Given the description of an element on the screen output the (x, y) to click on. 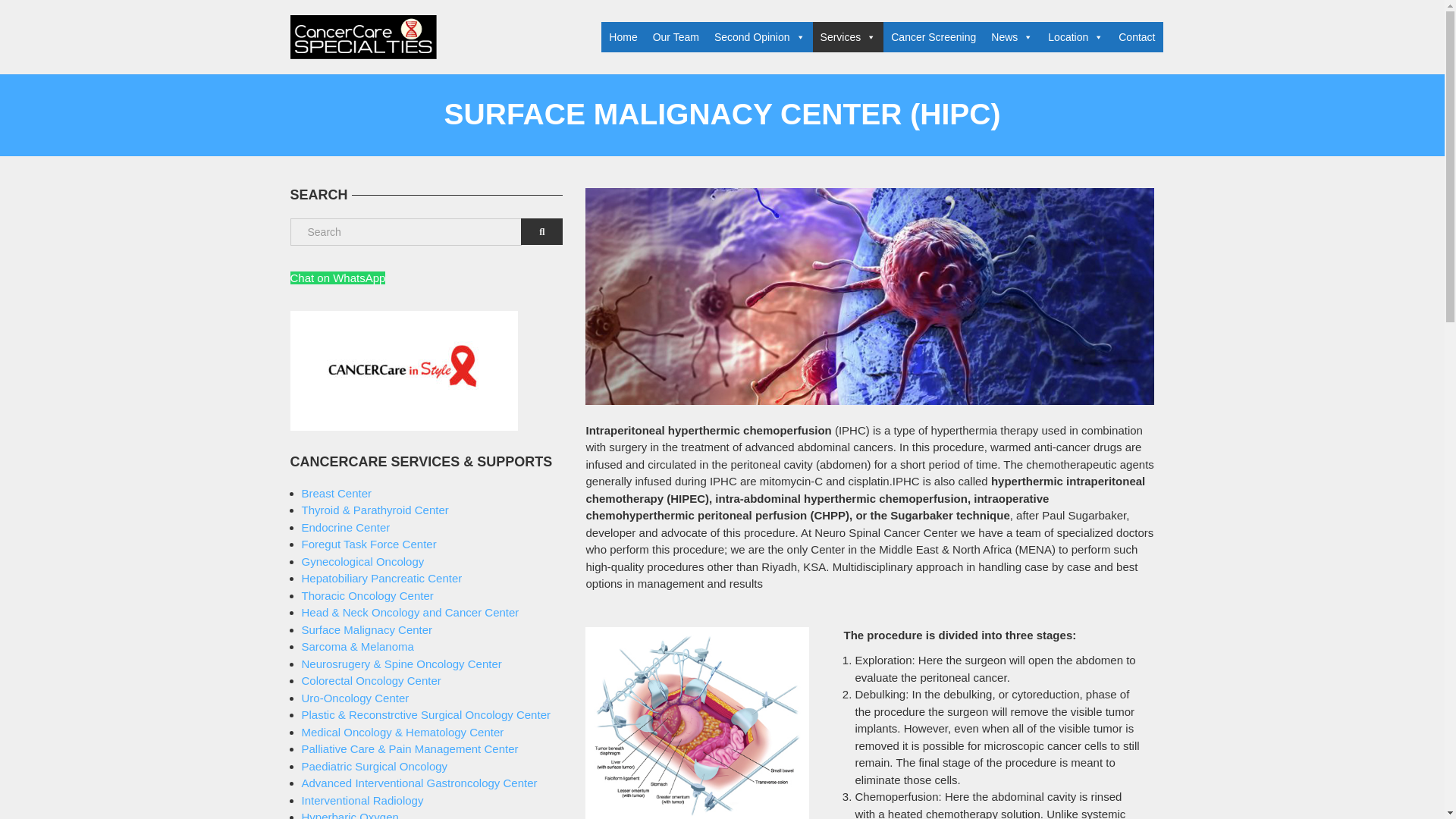
Gynecological Oncology Center UAE (363, 561)
Hepatobiliary Pancreatic Center UAE (382, 577)
Breast Cancer UAE (336, 492)
aediatric Surgical Oncology UAE (374, 766)
Uro-Oncology Center UAE (355, 697)
Services (847, 37)
Foregut Task Force Center UAE (368, 543)
Endocrine Center UAE (345, 526)
Our Team (675, 37)
Home (623, 37)
